Given the description of an element on the screen output the (x, y) to click on. 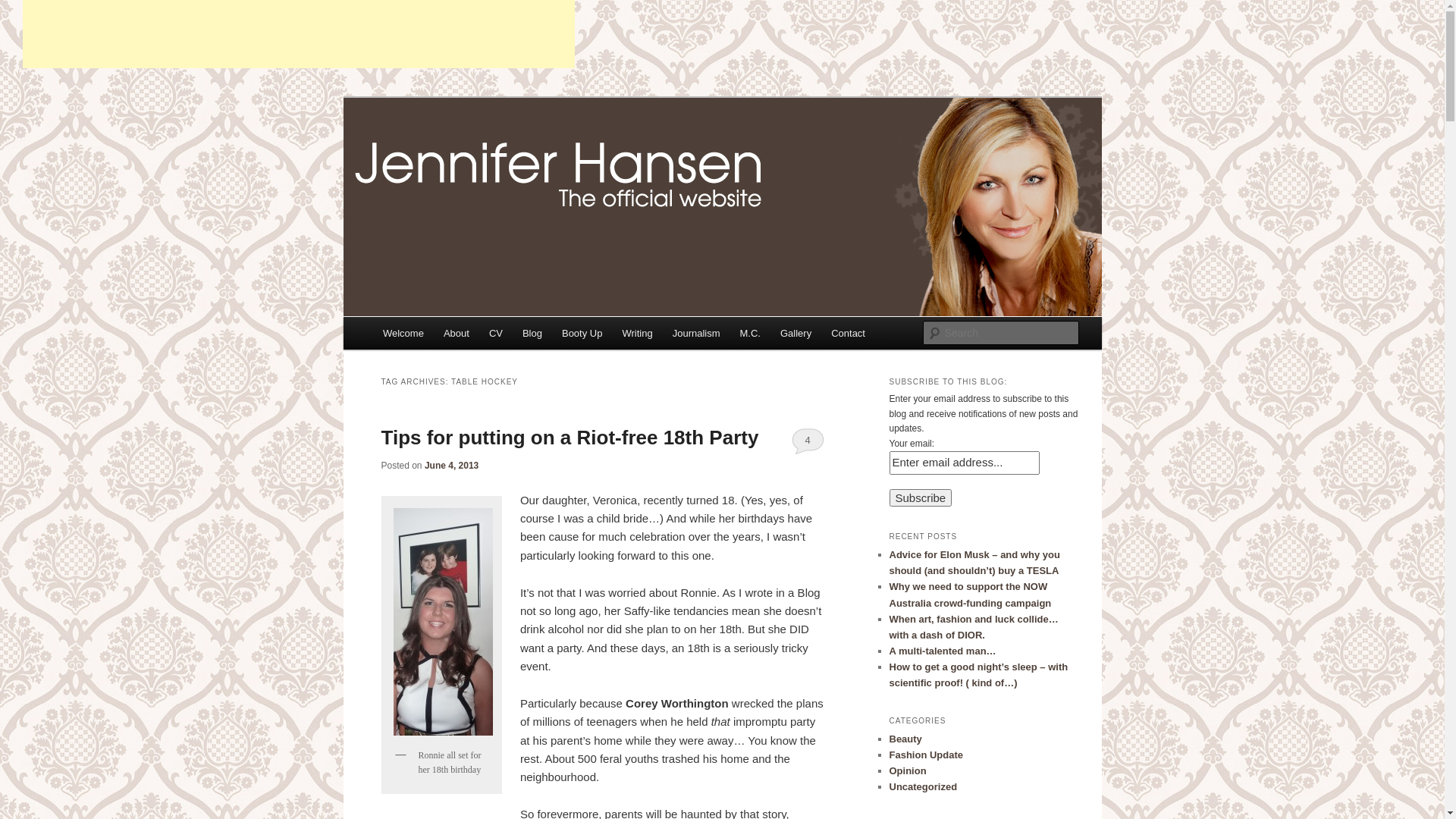
Tips for putting on a Riot-free 18th Party Element type: text (569, 437)
Subscribe Element type: text (919, 497)
Welcome Element type: text (403, 332)
June 4, 2013 Element type: text (451, 465)
Advertisement Element type: hover (298, 34)
Skip to secondary content Element type: text (457, 335)
Uncategorized Element type: text (922, 786)
Skip to primary content Element type: text (449, 335)
Writing Element type: text (636, 332)
Beauty Element type: text (904, 738)
4 Element type: text (807, 440)
M.C. Element type: text (750, 332)
CV Element type: text (495, 332)
Journalism Element type: text (696, 332)
Blog Element type: text (532, 332)
About Element type: text (456, 332)
Fashion Update Element type: text (925, 754)
Contact Element type: text (848, 332)
Gallery Element type: text (795, 332)
Booty Up Element type: text (581, 332)
Search Element type: text (24, 8)
Opinion Element type: text (906, 770)
The Official Jennifer Hansen Website Element type: text (600, 152)
